Given the description of an element on the screen output the (x, y) to click on. 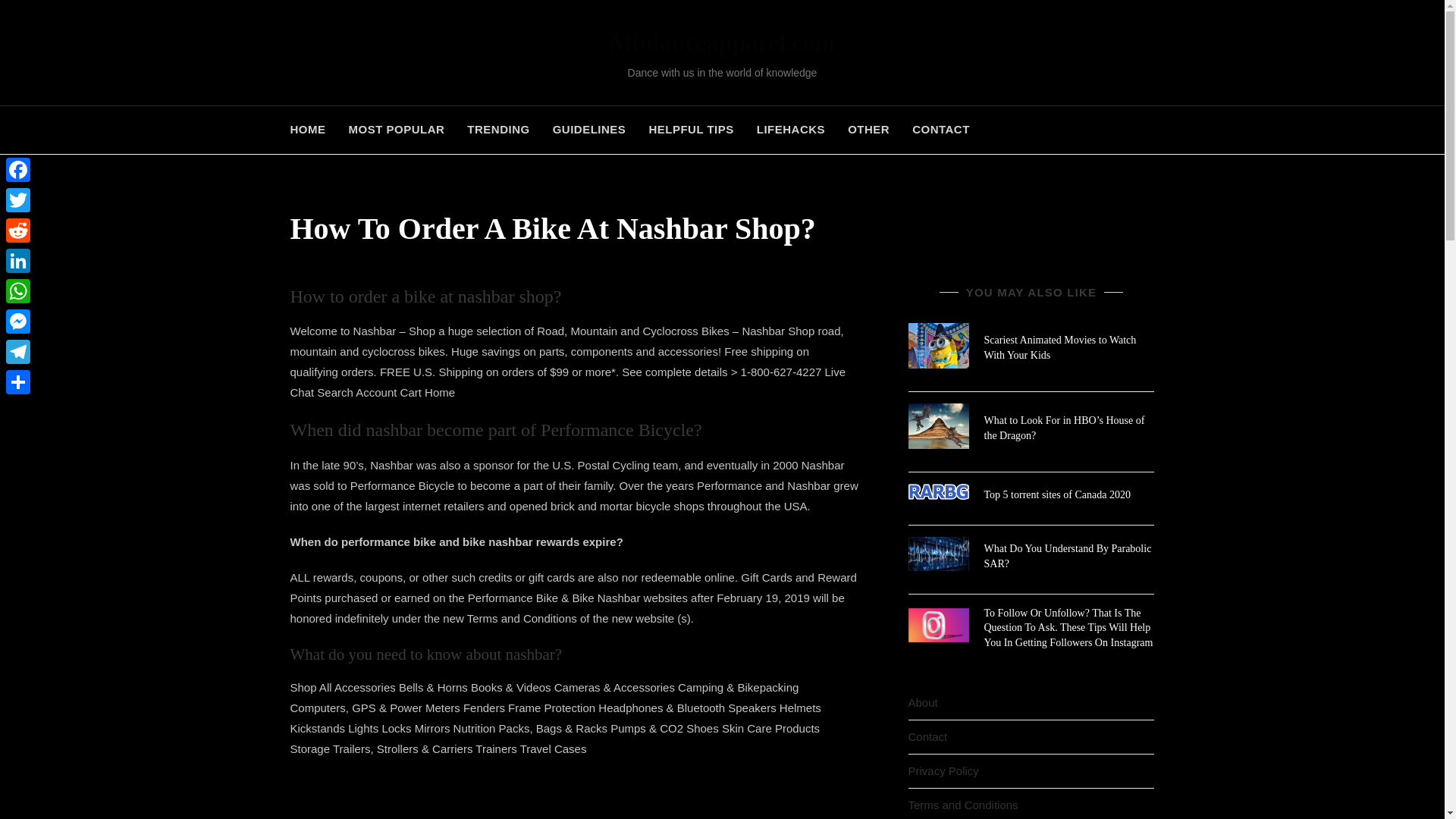
LIFEHACKS (790, 129)
CONTACT (941, 129)
Mbdanceapparel.com (722, 42)
Scariest Animated Movies to Watch With Your Kids (1060, 347)
GUIDELINES (589, 129)
WhatsApp (17, 291)
OTHER (868, 129)
Twitter (17, 200)
LinkedIn (17, 260)
TRENDING (497, 129)
Reddit (17, 230)
Facebook (17, 169)
HELPFUL TIPS (690, 129)
HOME (312, 129)
MOST POPULAR (395, 129)
